Given the description of an element on the screen output the (x, y) to click on. 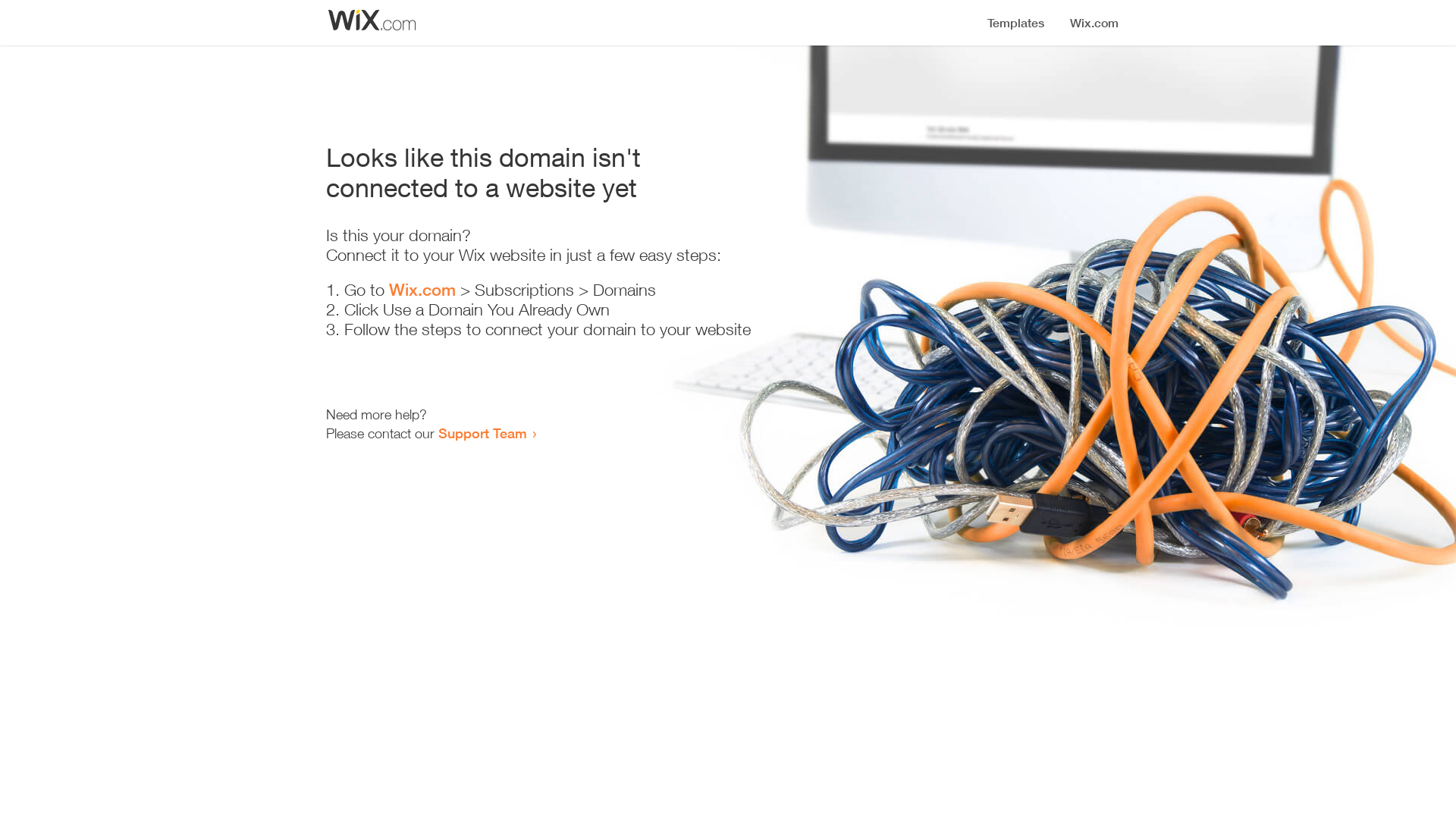
Wix.com Element type: text (422, 289)
Support Team Element type: text (482, 432)
